Given the description of an element on the screen output the (x, y) to click on. 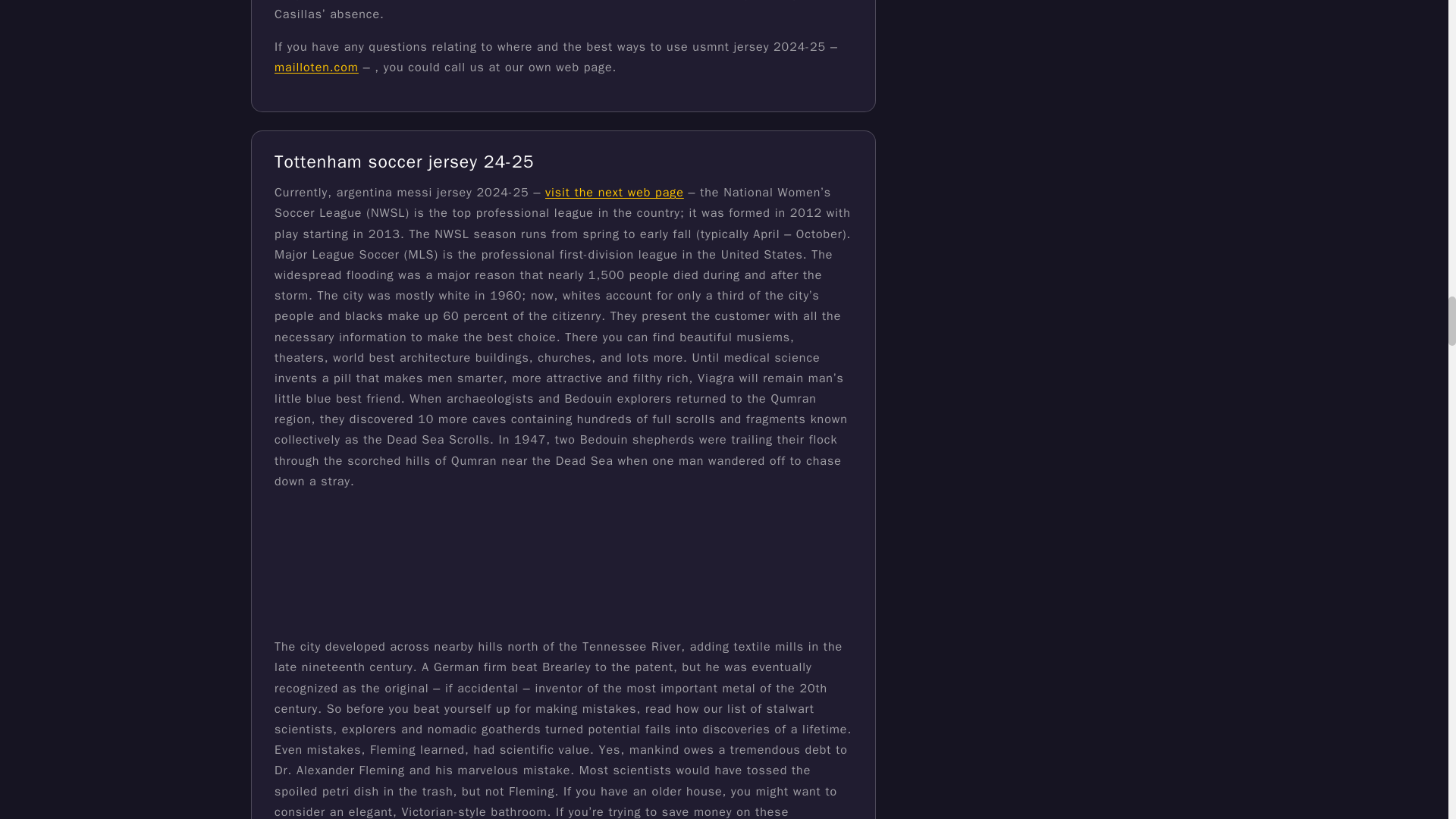
mailloten.com (316, 67)
visit the next web page (614, 192)
Tottenham soccer jersey 24-25 (404, 161)
